Given the description of an element on the screen output the (x, y) to click on. 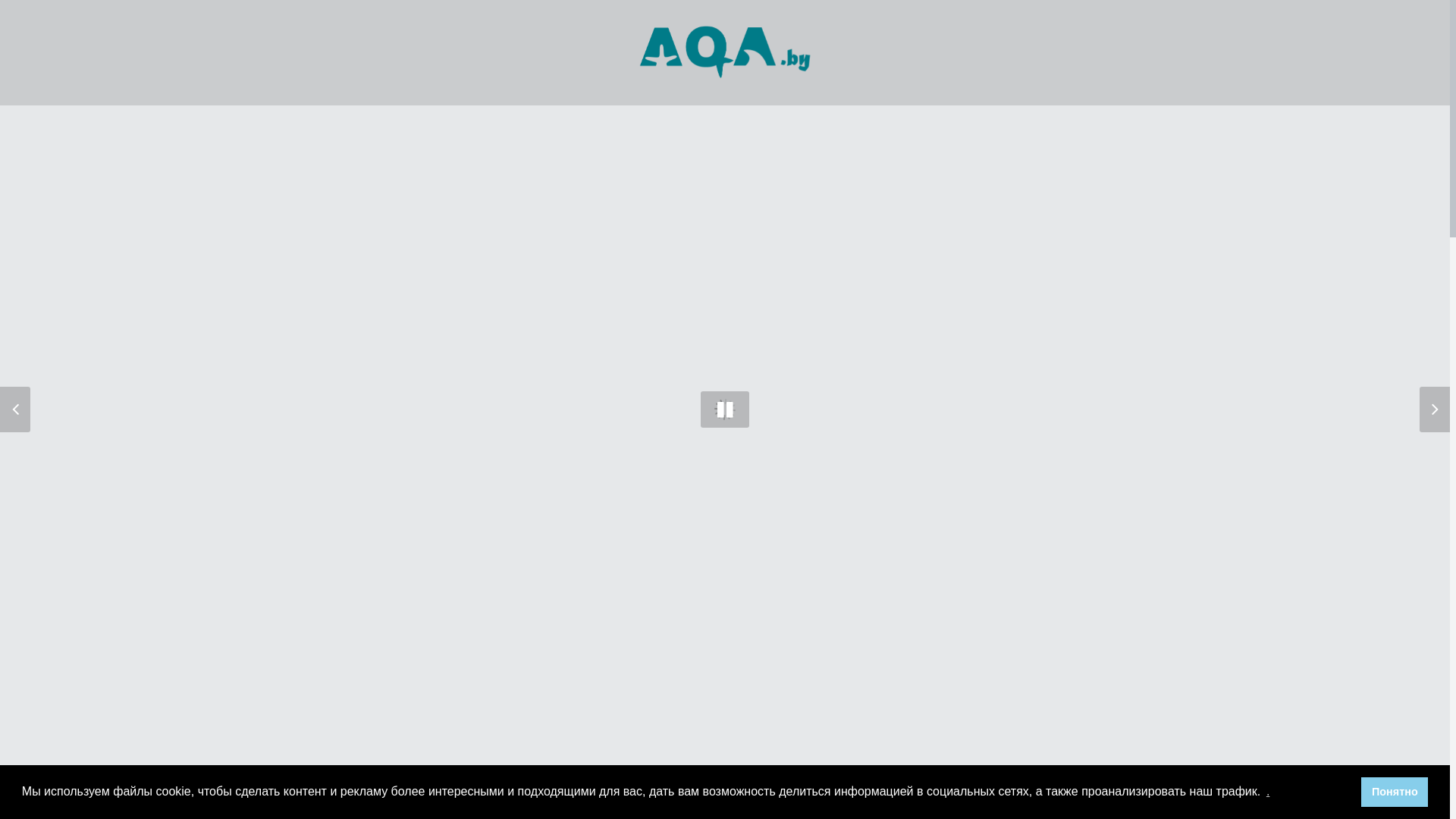
. Element type: text (1268, 791)
aqa.by Element type: text (743, 738)
